Given the description of an element on the screen output the (x, y) to click on. 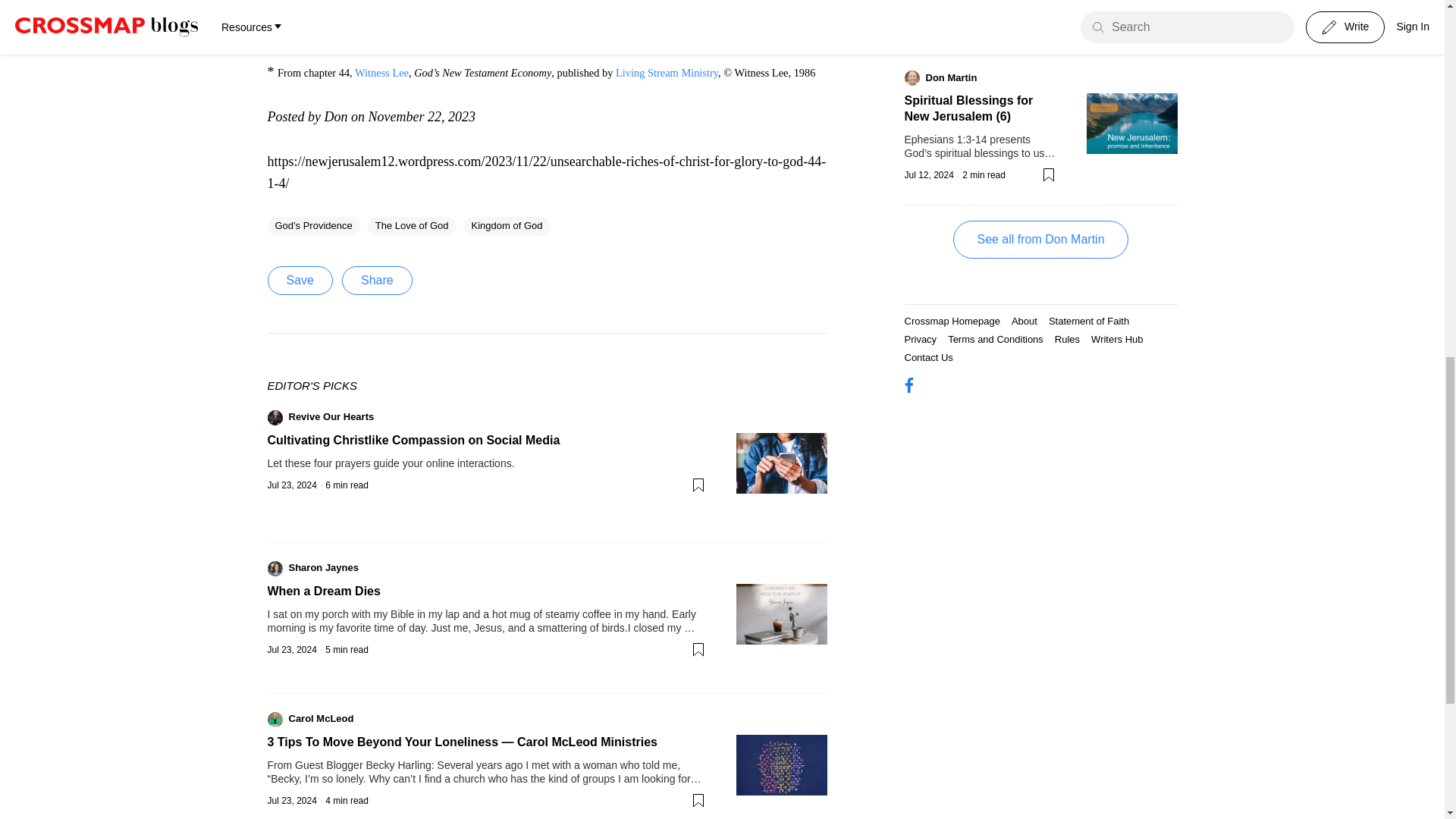
Share (377, 280)
Living Stream Ministry (666, 72)
Witness Lee (382, 72)
The Love of God (412, 226)
Kingdom of God (507, 226)
Save (298, 280)
God's Providence (312, 226)
